Given the description of an element on the screen output the (x, y) to click on. 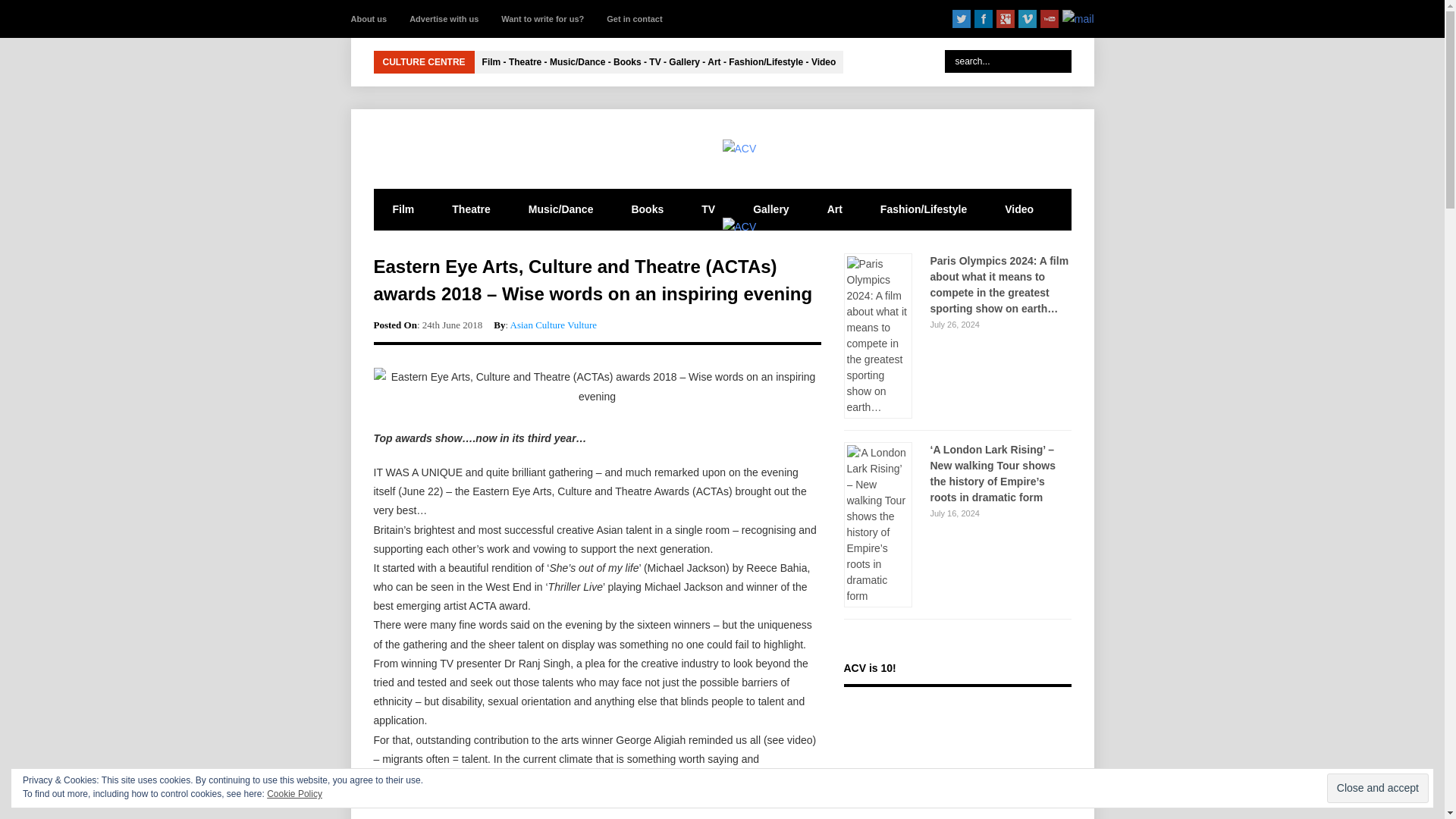
Books (646, 209)
TV (707, 209)
Close and accept (1377, 788)
mail (1078, 18)
Want to write for us? (541, 18)
facebook (983, 18)
Asian Culture Vulture (553, 324)
youtube (1049, 18)
Posts by Asian Culture Vulture (553, 324)
Get in contact (634, 18)
search... (1007, 60)
google (1004, 18)
Gallery (770, 209)
twitter (961, 18)
Advertise with us (444, 18)
